Given the description of an element on the screen output the (x, y) to click on. 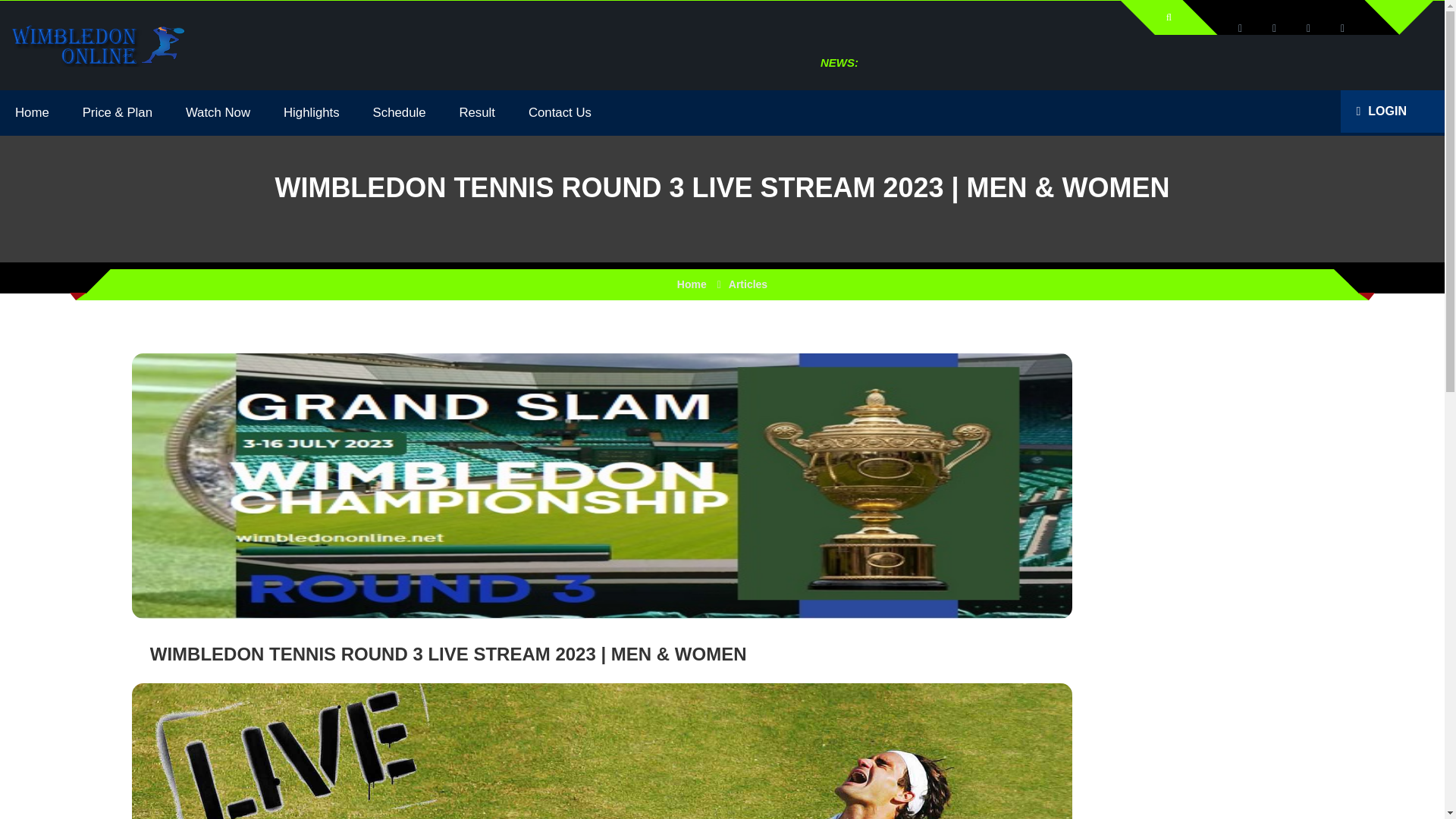
LOGIN (1380, 111)
Home (691, 284)
Highlights (311, 112)
Home (32, 112)
Result (477, 112)
Contact Us (560, 112)
Schedule (399, 112)
Watch Now (217, 112)
